Given the description of an element on the screen output the (x, y) to click on. 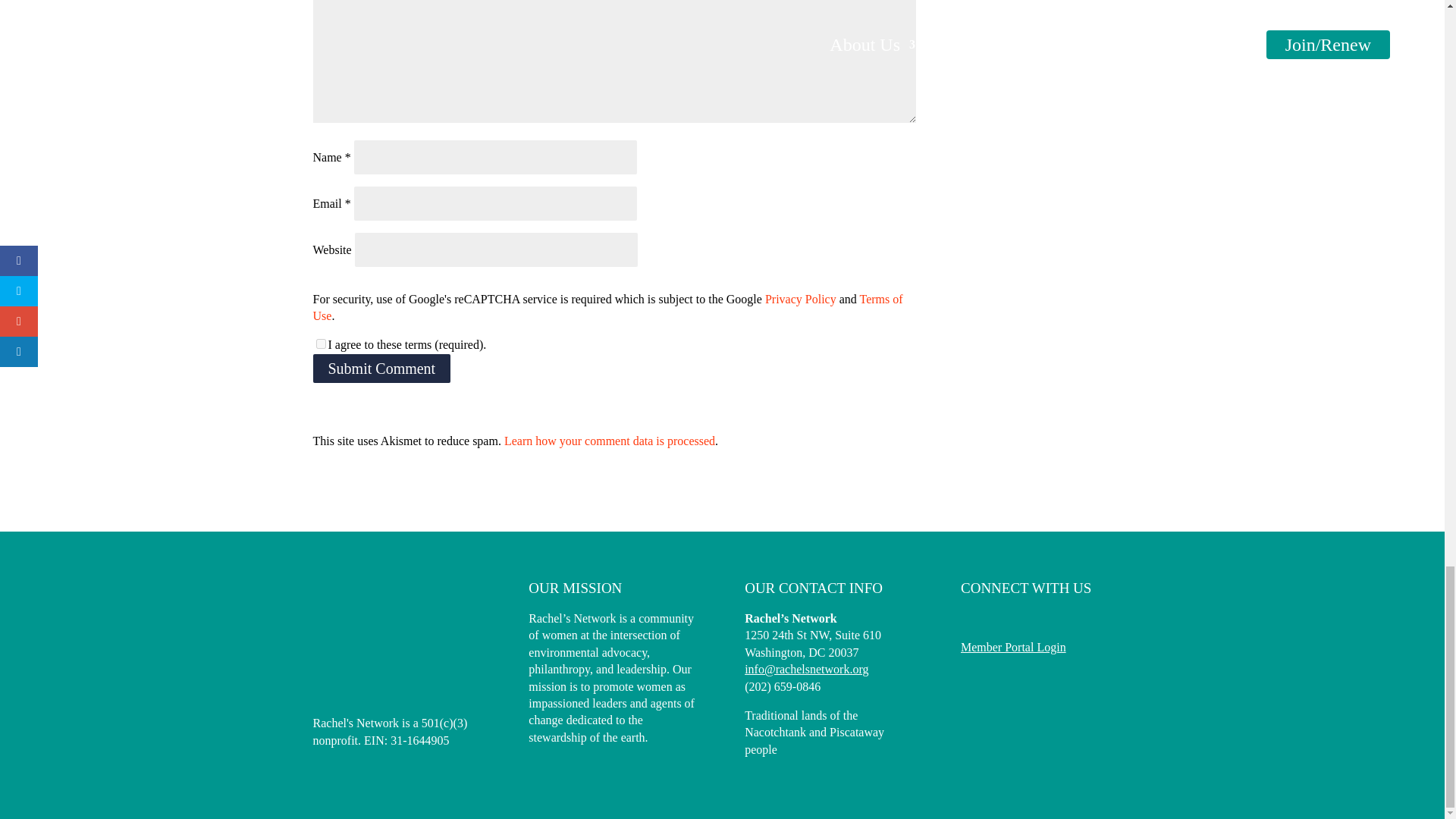
Terms of Use (607, 307)
Privacy Policy (800, 298)
Learn how your comment data is processed (608, 440)
Submit Comment (381, 368)
on (319, 343)
Submit Comment (381, 368)
